Given the description of an element on the screen output the (x, y) to click on. 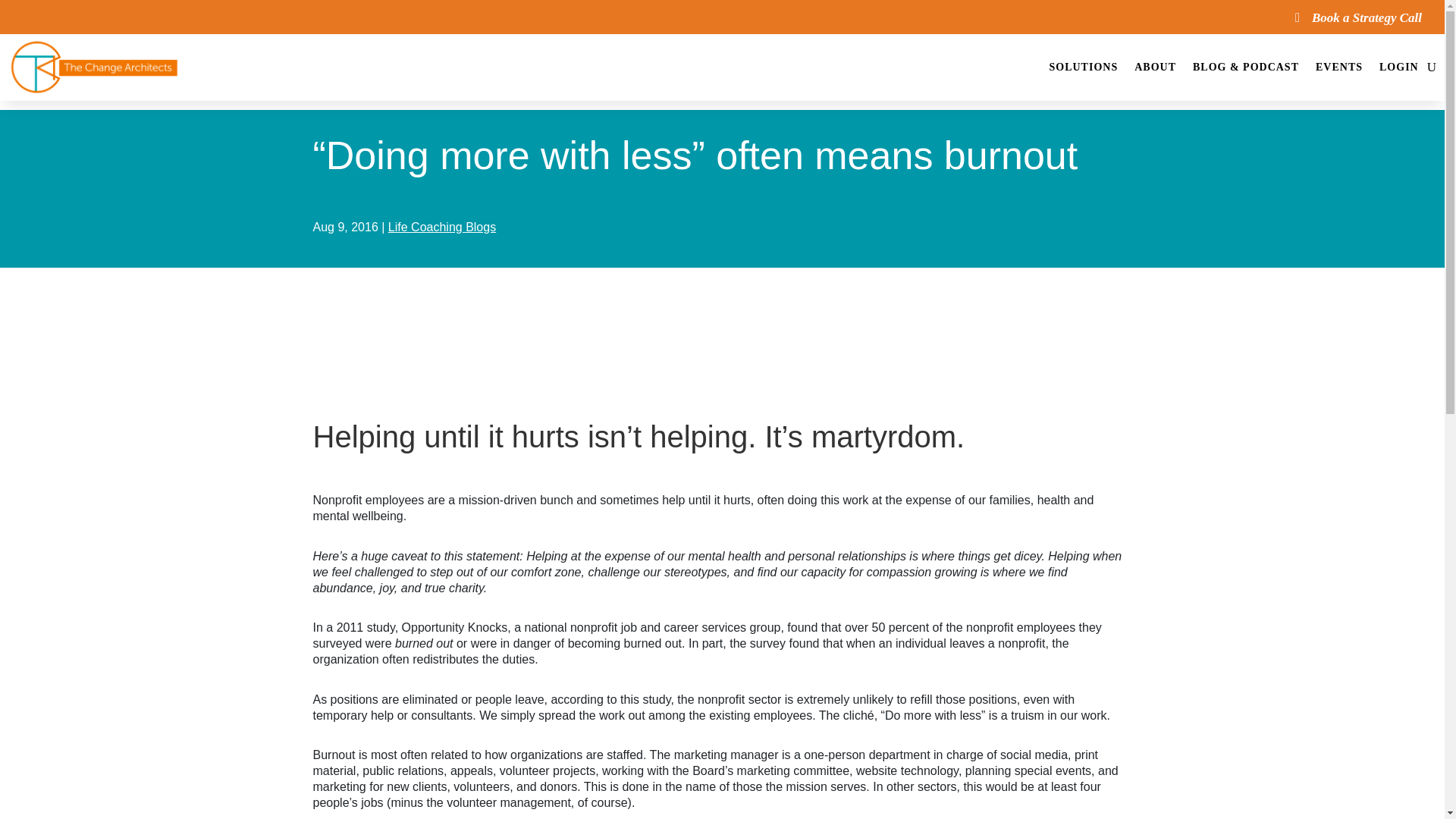
Life Coaching Blogs (442, 226)
SOLUTIONS (1083, 67)
